Given the description of an element on the screen output the (x, y) to click on. 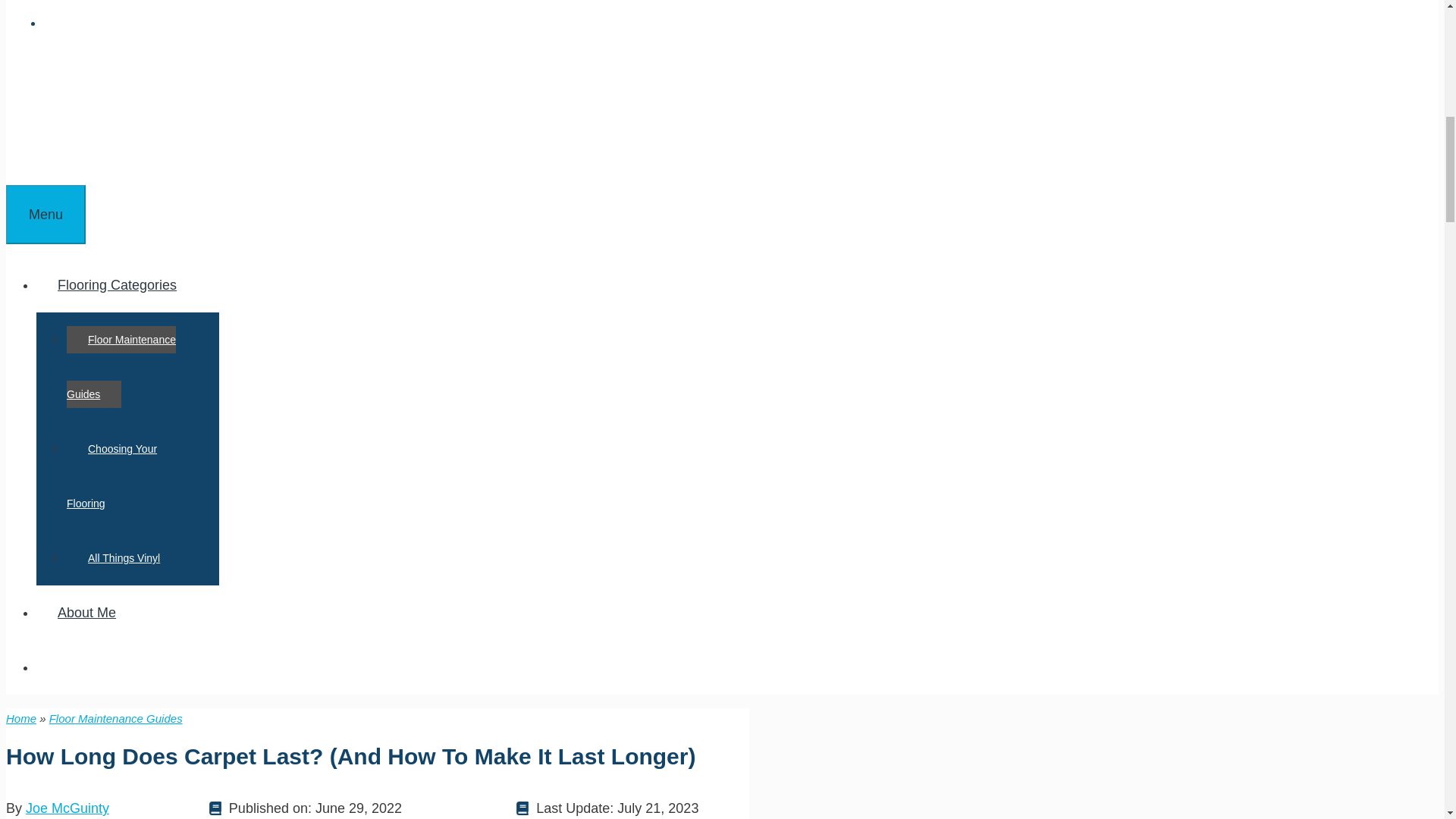
All Things Vinyl (123, 557)
Menu (45, 214)
Flooring Categories (127, 284)
Floor Maintenance Guides (121, 366)
Joe McGuinty (67, 807)
Floor Maintenance Guides (116, 717)
Choosing Your Flooring (111, 475)
Floor Techie (68, 118)
About Me (86, 612)
Home (20, 717)
